Given the description of an element on the screen output the (x, y) to click on. 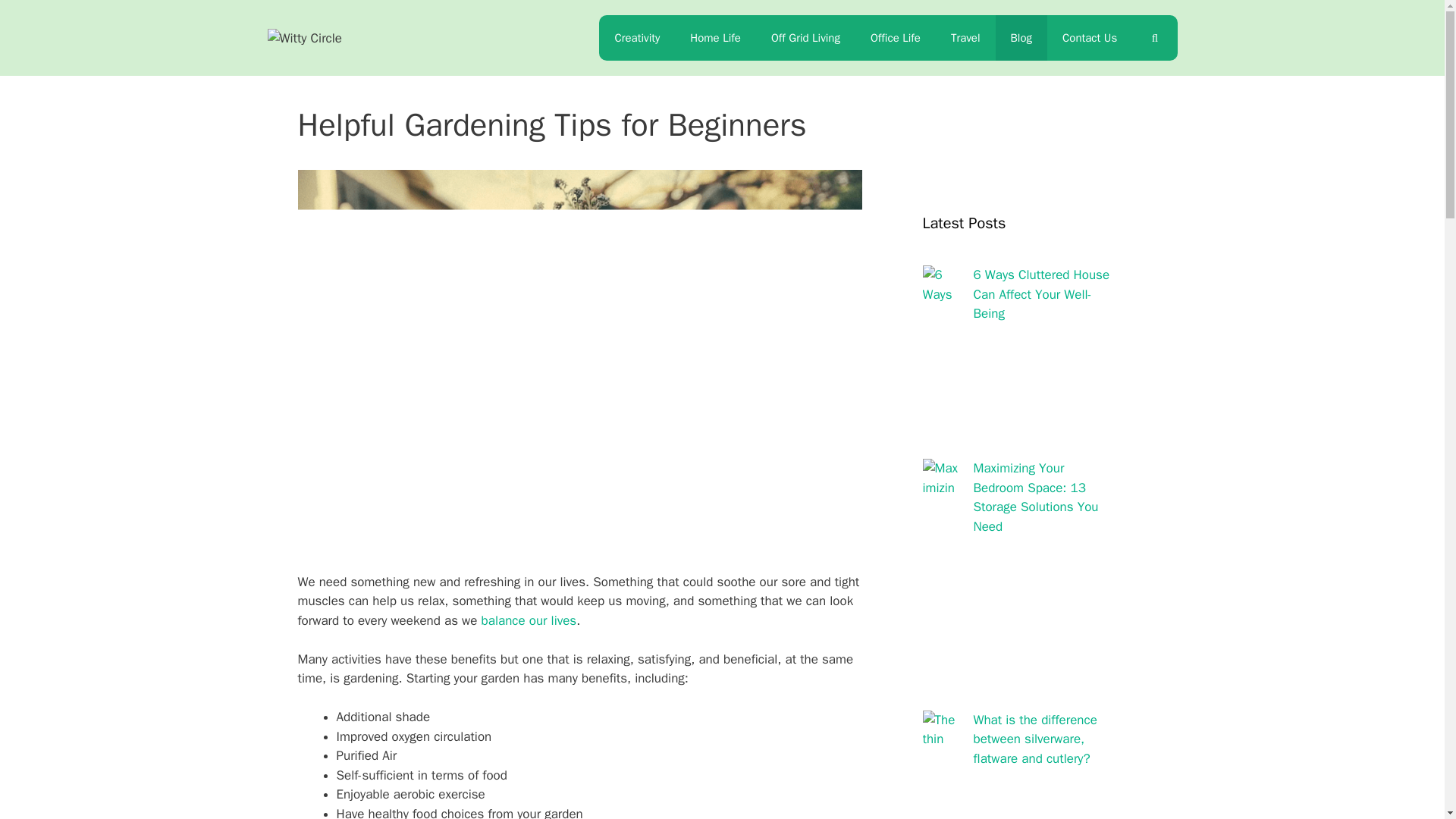
Blog (1020, 37)
Contact Us (1089, 37)
6 Ways Cluttered House Can Affect Your Well-Being (1041, 293)
Office Life (896, 37)
Maximizing Your Bedroom Space: 13 Storage Solutions You Need (1036, 497)
Creativity (636, 37)
Home Life (715, 37)
Travel (965, 37)
Off Grid Living (805, 37)
balance our lives (528, 620)
